Given the description of an element on the screen output the (x, y) to click on. 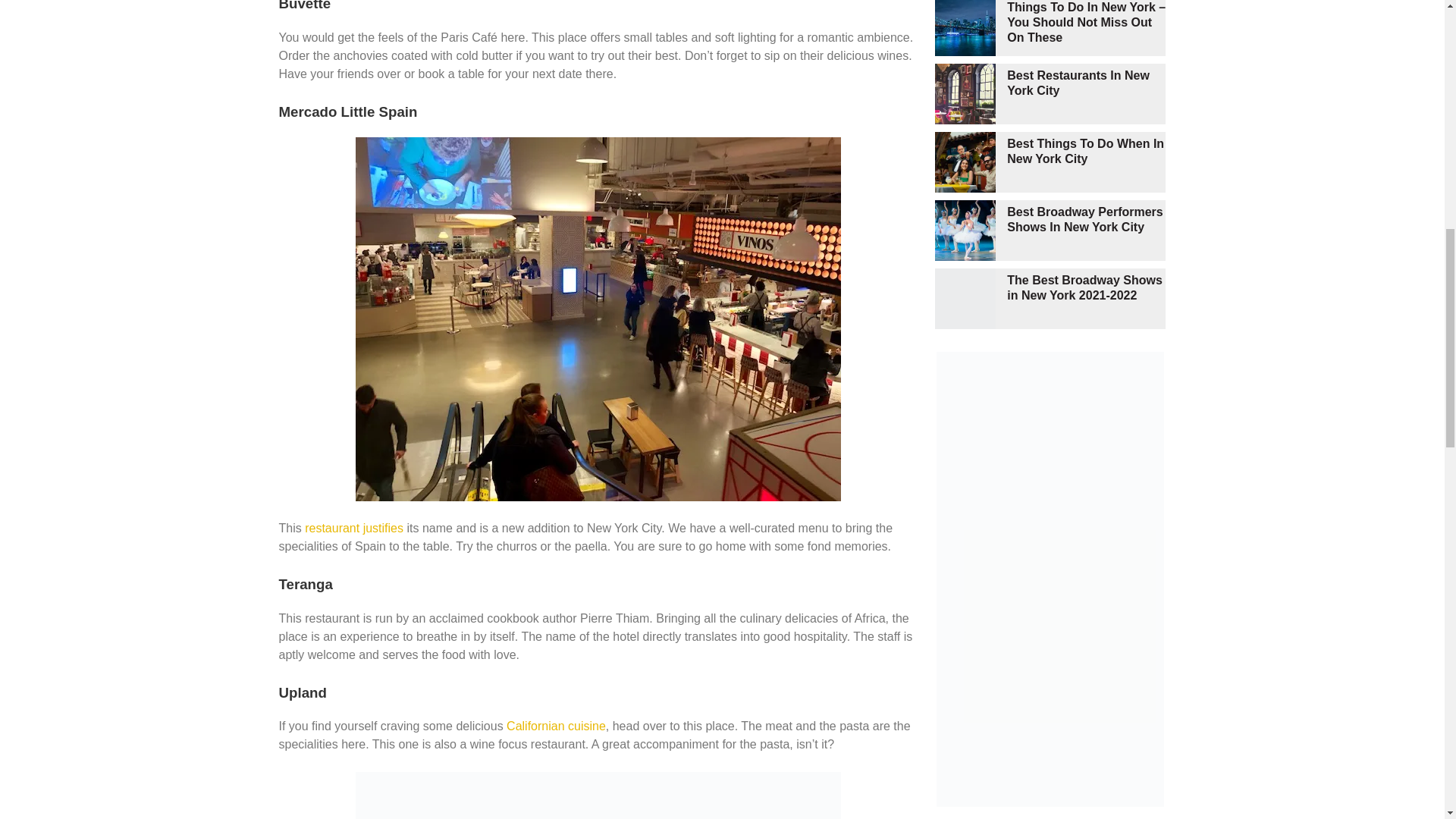
Californian cuisine (555, 725)
Best Things To Do When In New York City (1085, 151)
restaurant justifies (353, 527)
The Best Broadway Shows in New York 2021-2022 (1084, 287)
Best Broadway Performers Shows In New York City (1084, 219)
Best Restaurants In New York City (1078, 82)
